Given the description of an element on the screen output the (x, y) to click on. 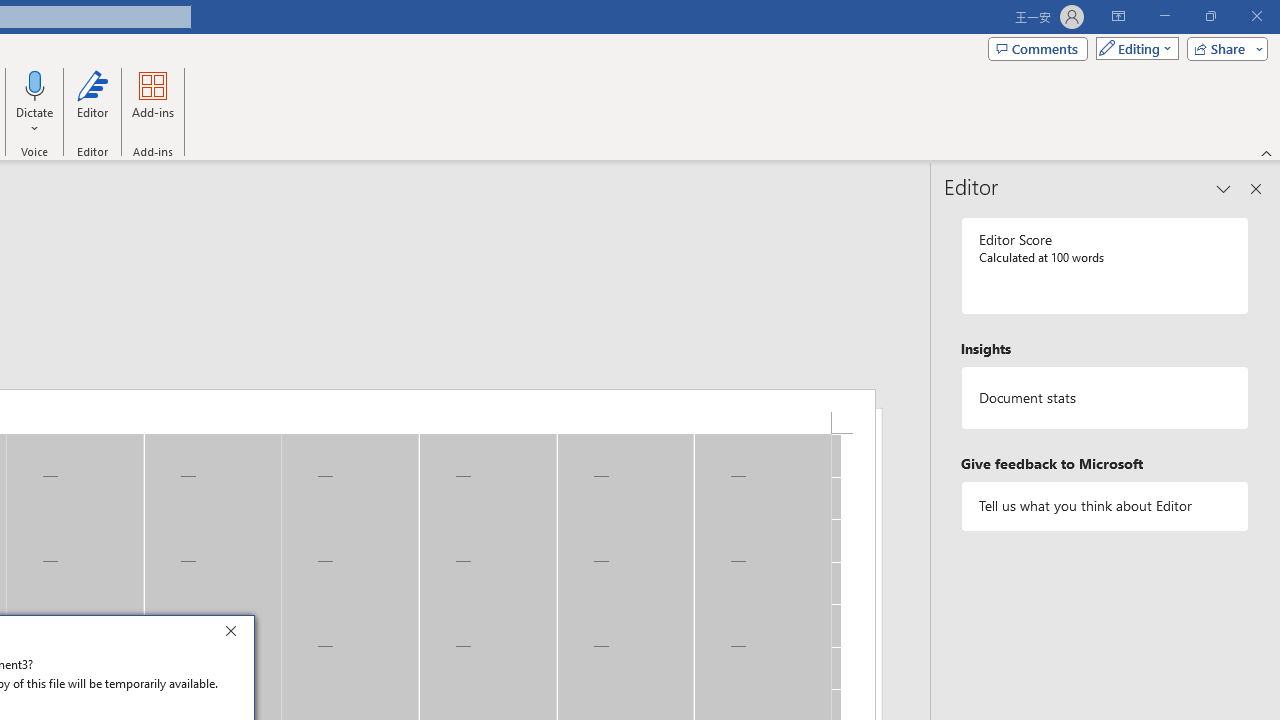
Document statistics (1105, 398)
